Given the description of an element on the screen output the (x, y) to click on. 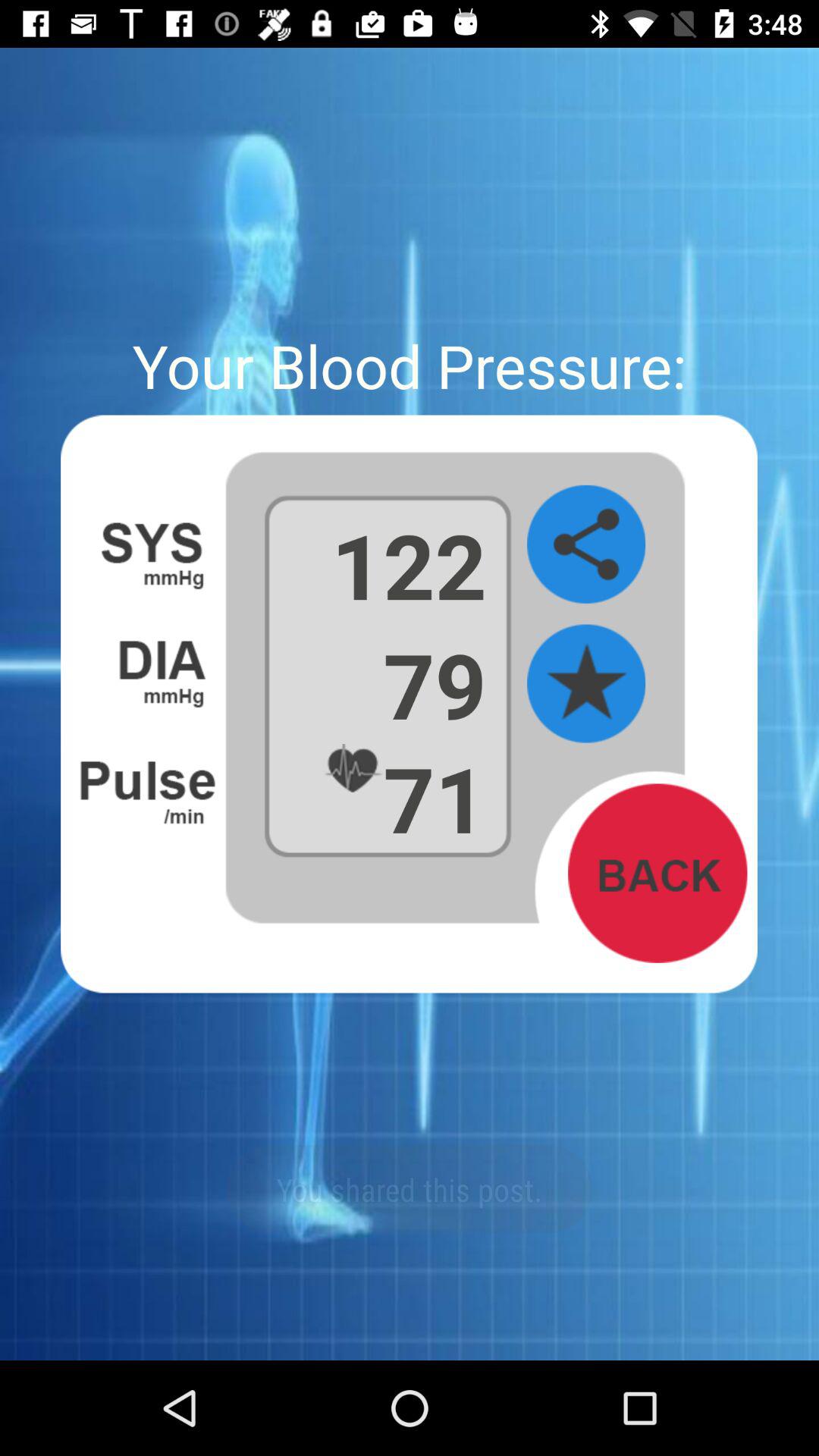
save results (586, 683)
